Given the description of an element on the screen output the (x, y) to click on. 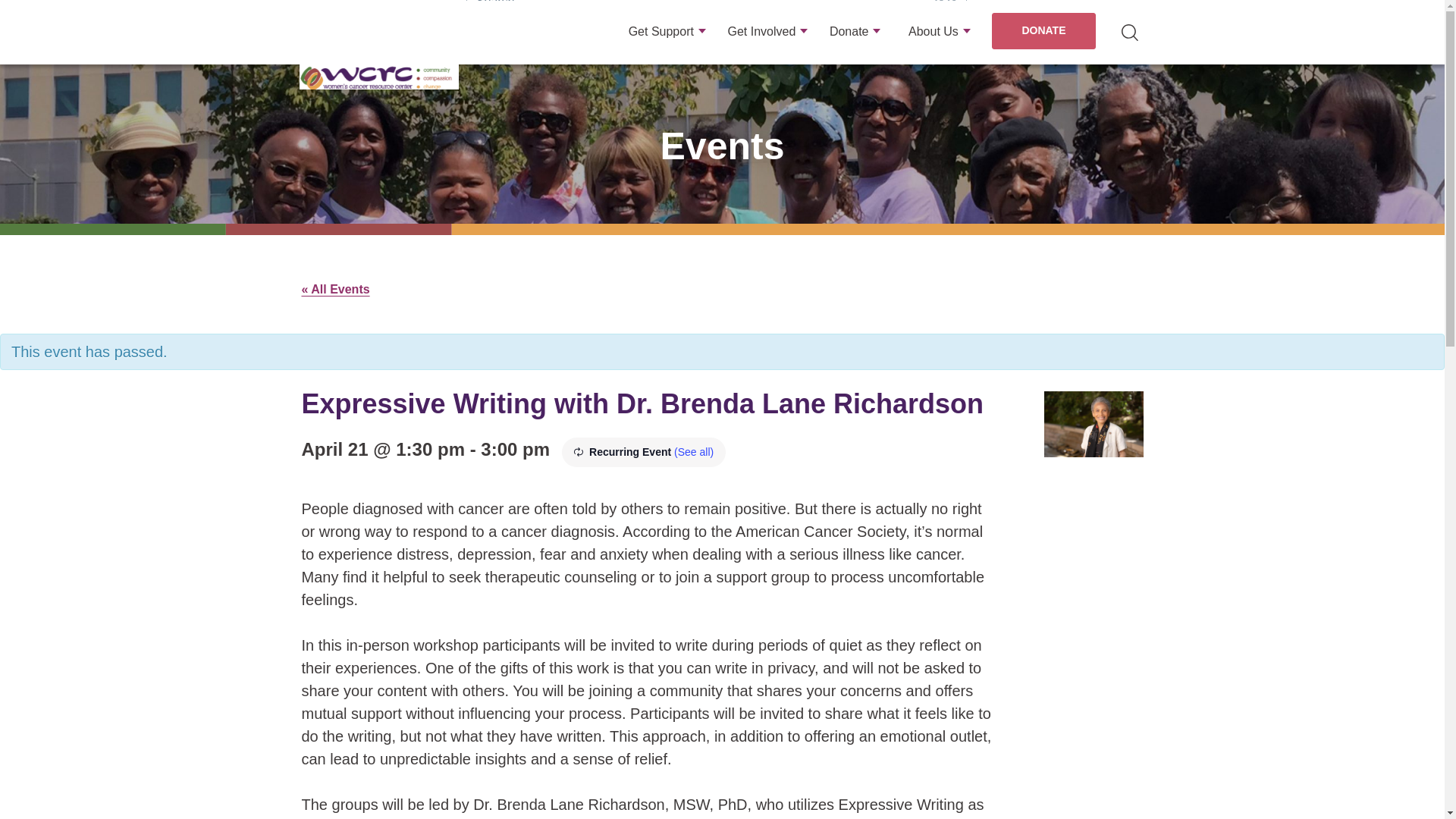
DONATE (1042, 31)
Get Support (667, 43)
About Us (939, 43)
Donate (854, 43)
Get Involved (768, 43)
